Given the description of an element on the screen output the (x, y) to click on. 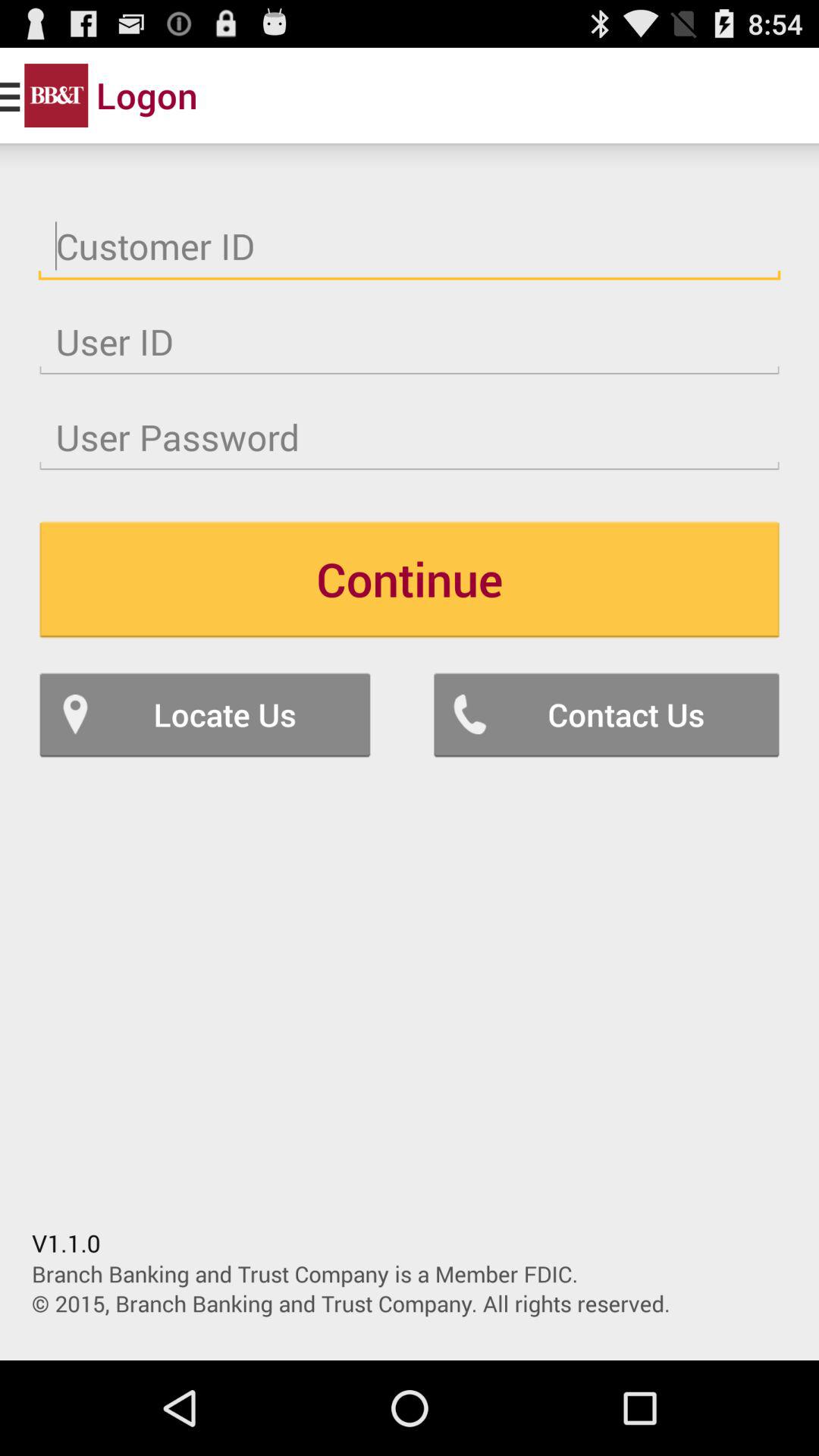
turn off icon to the right of locate us (606, 714)
